Given the description of an element on the screen output the (x, y) to click on. 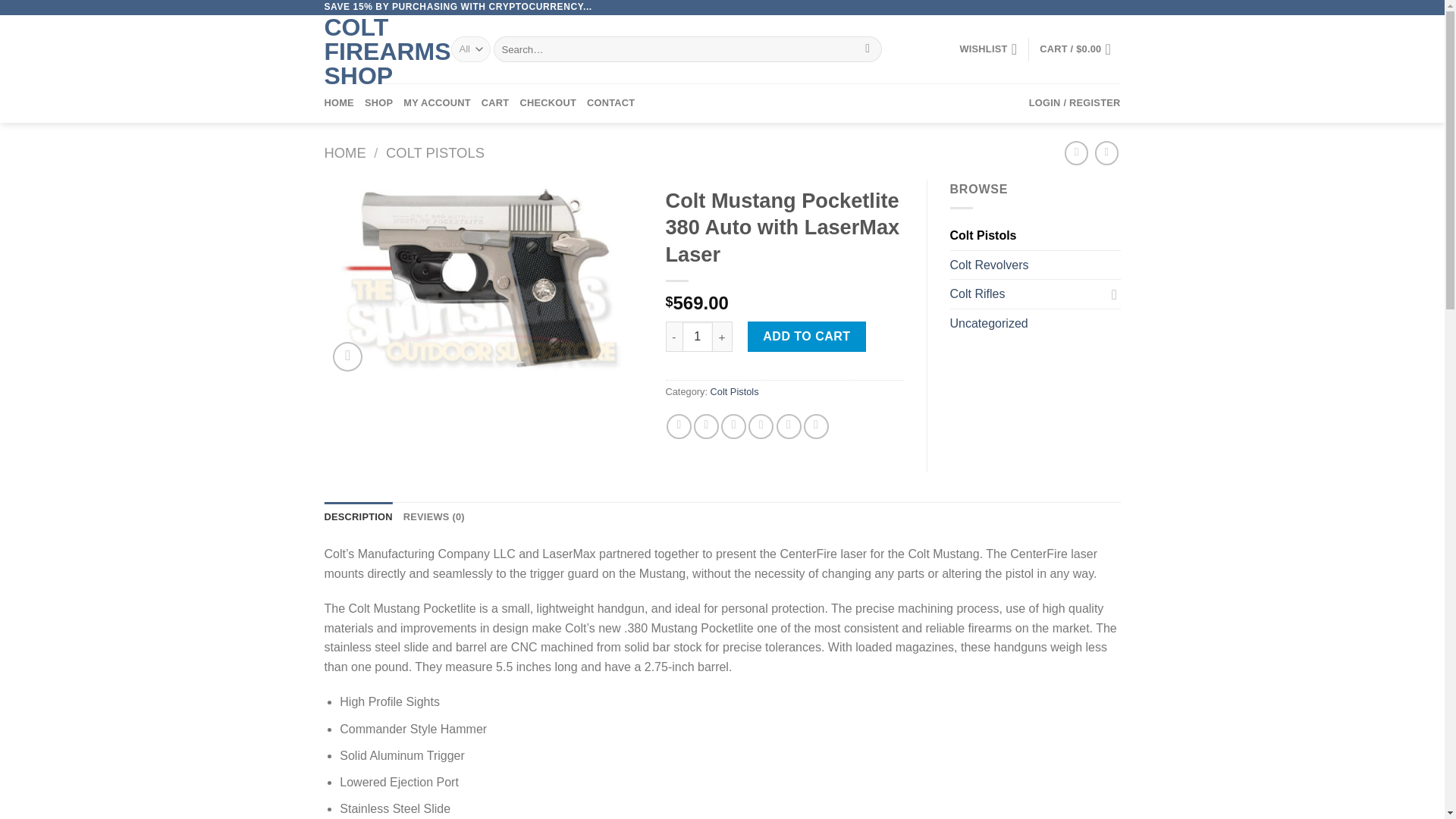
Cart (1079, 49)
41 (483, 279)
Colt Rifles (1026, 294)
MY ACCOUNT (436, 102)
WISHLIST (987, 49)
CART (495, 102)
SHOP (379, 102)
CONTACT (610, 102)
HOME (338, 102)
COLT PISTOLS (434, 152)
Colt Revolvers (1034, 265)
Qty (697, 336)
1 (697, 336)
ADD TO CART (807, 336)
Colt Pistols (734, 391)
